Given the description of an element on the screen output the (x, y) to click on. 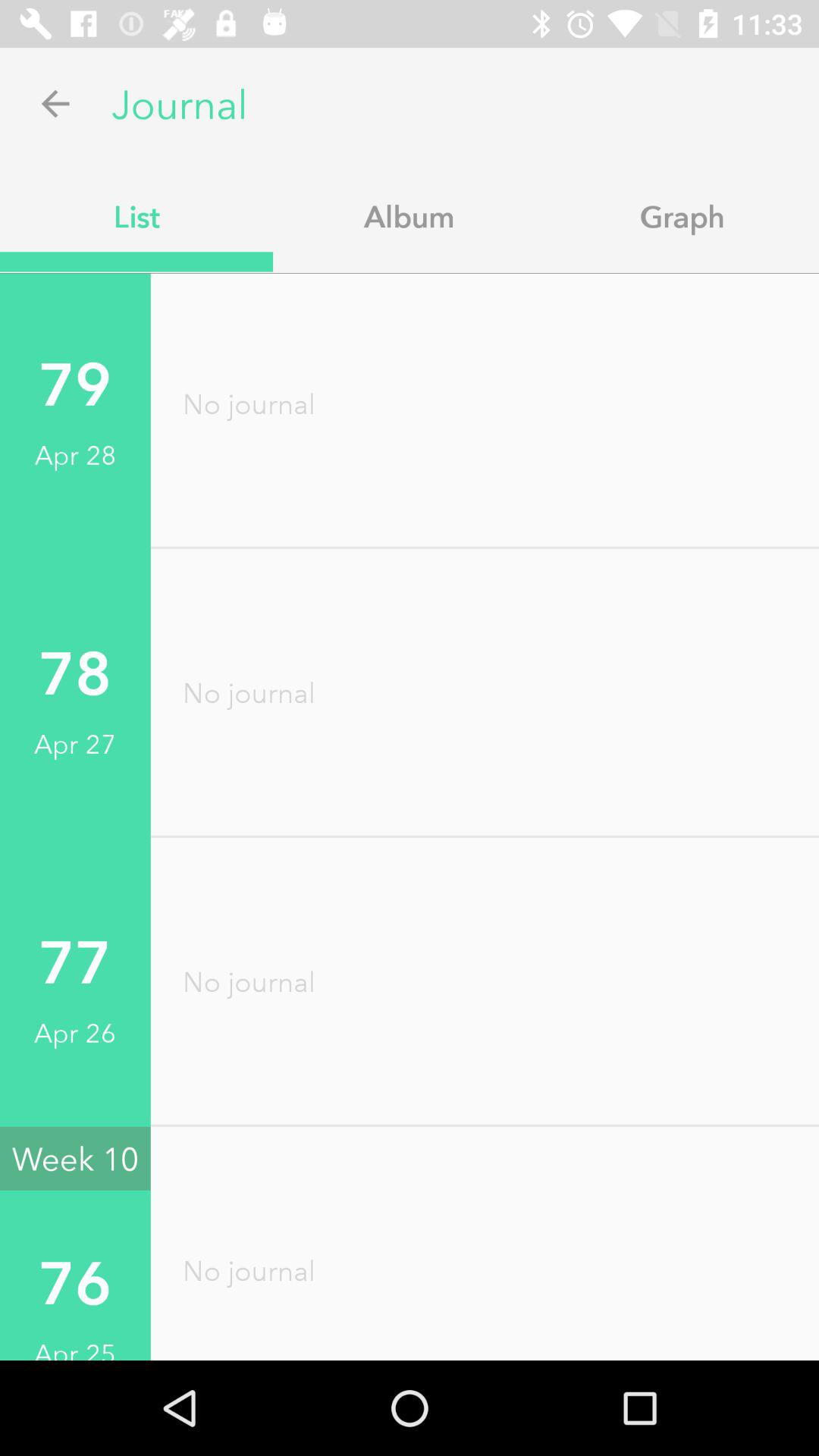
turn off icon to the left of journal icon (55, 103)
